Given the description of an element on the screen output the (x, y) to click on. 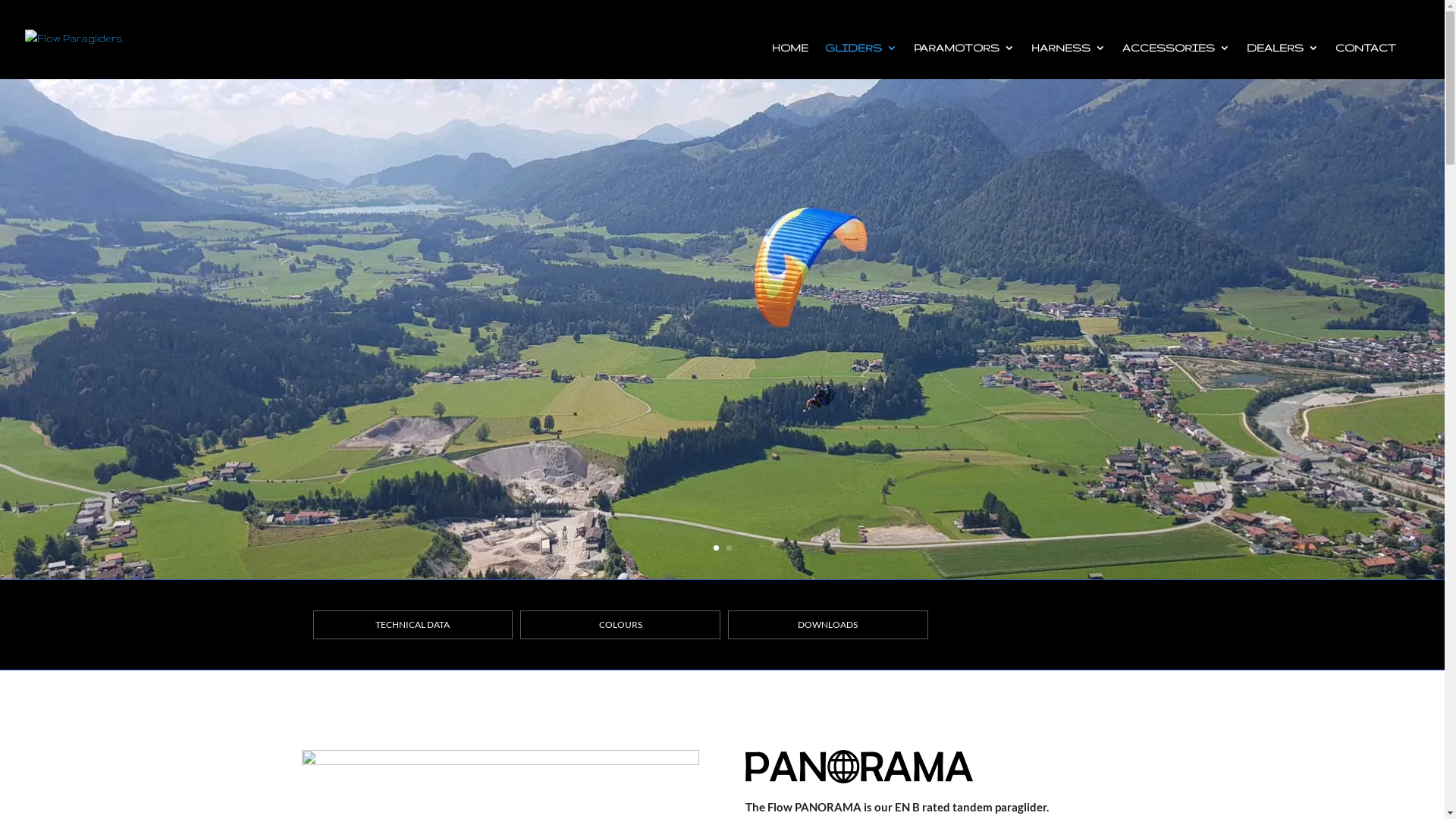
1 Element type: text (715, 546)
2 Element type: text (728, 546)
PARAMOTORS Element type: text (963, 60)
TECHNICAL DATA Element type: text (412, 624)
GLIDERS Element type: text (861, 60)
CONTACT Element type: text (1365, 60)
paragliders-panorama-gallery-4 Element type: hover (500, 760)
HOME Element type: text (789, 60)
ACCESSORIES Element type: text (1176, 60)
DEALERS Element type: text (1282, 60)
Flow-Panorama-logo-300x44 Element type: hover (858, 766)
DOWNLOADS Element type: text (828, 624)
HARNESS Element type: text (1068, 60)
COLOURS Element type: text (620, 624)
